Given the description of an element on the screen output the (x, y) to click on. 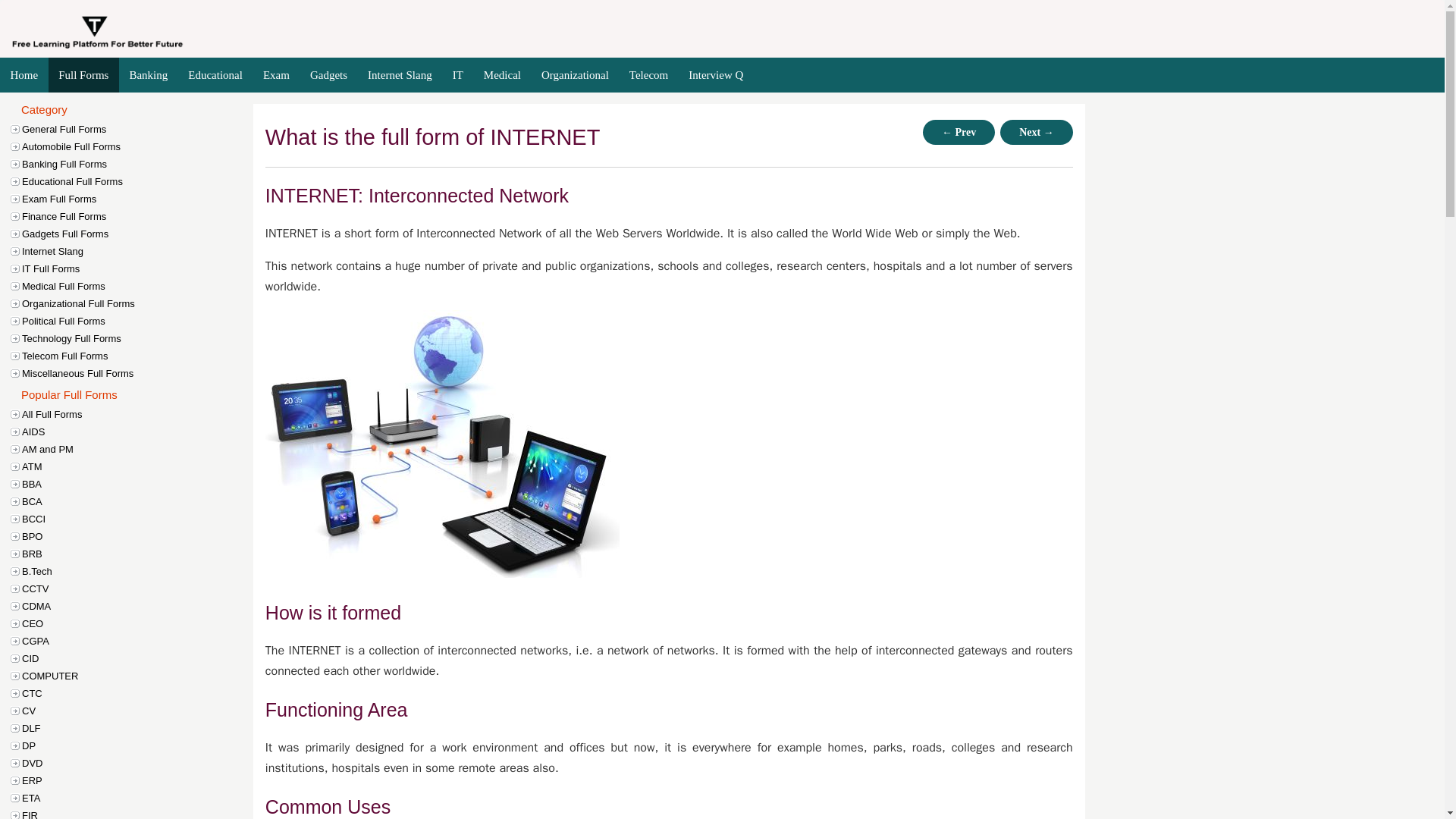
Gadgets (327, 75)
Internet Slang (400, 75)
Banking (148, 75)
Automobile Full Forms (138, 146)
AIDS (138, 431)
Educational Full Forms (138, 181)
Exam (275, 75)
Educational (215, 75)
Organizational Full Forms (138, 303)
Full Forms (83, 75)
Banking Full Forms (138, 163)
BPO (138, 536)
BBA (138, 483)
BRB (138, 553)
Technology Full Forms (138, 338)
